Given the description of an element on the screen output the (x, y) to click on. 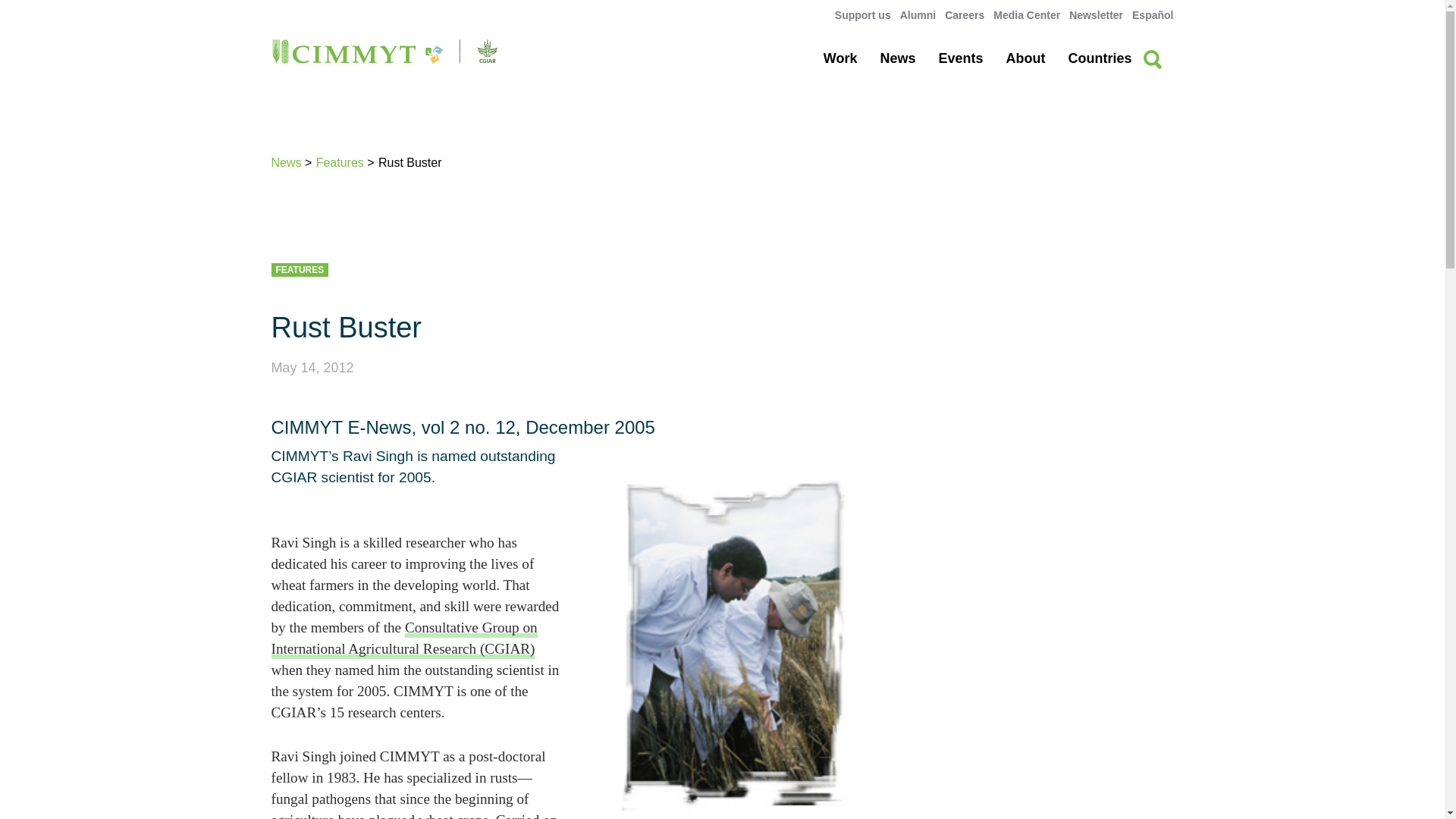
Careers (964, 15)
About us (1025, 57)
About (1025, 57)
Media Center (1025, 15)
Alumni (917, 15)
Support us (862, 15)
Events (959, 57)
News (897, 57)
Careers and training (964, 15)
Our work (840, 57)
News (897, 57)
Newsletter (1095, 15)
Work (840, 57)
Events (959, 57)
Countries (1099, 57)
